Given the description of an element on the screen output the (x, y) to click on. 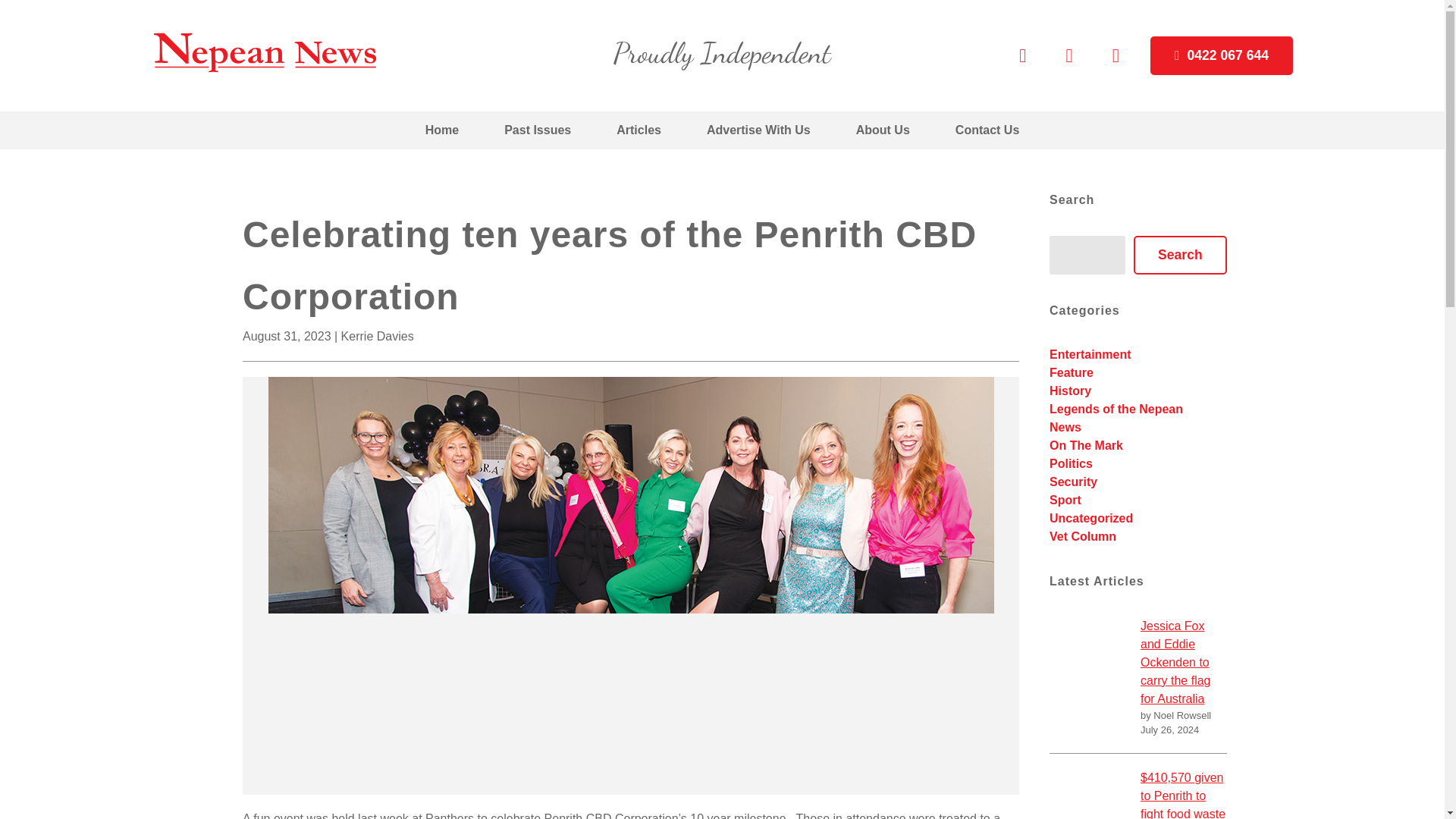
Entertainment (1090, 354)
Security (1073, 481)
Feature (1071, 372)
News (1065, 427)
About Us (882, 130)
Politics (1071, 463)
On The Mark (1085, 445)
Vet Column (1082, 535)
0422 067 644 (1221, 56)
Articles (639, 130)
Sport (1065, 499)
Past Issues (537, 130)
Uncategorized (1090, 517)
Advertise With Us (758, 130)
